Given the description of an element on the screen output the (x, y) to click on. 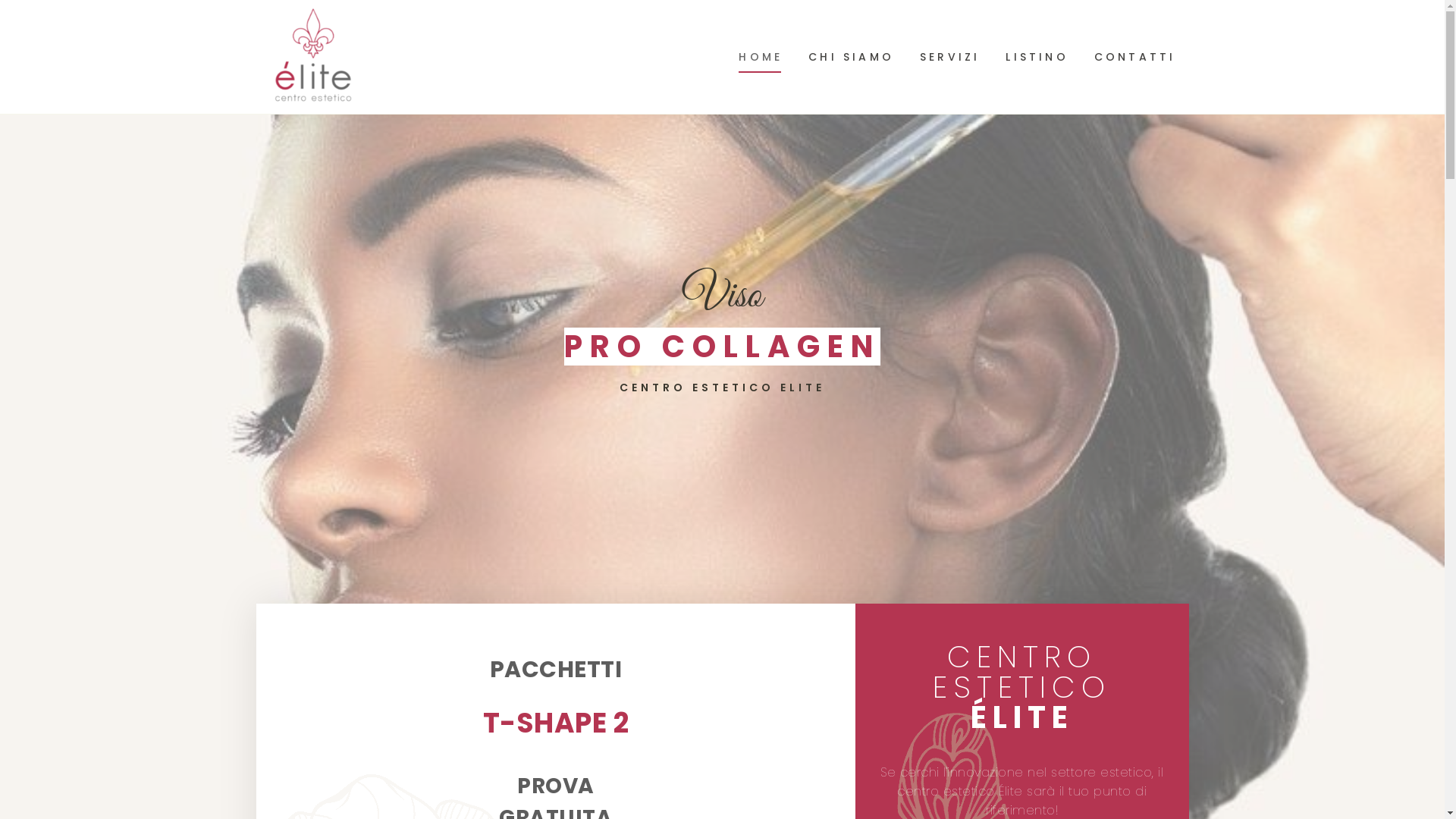
LISTINO Element type: text (1036, 56)
CHI SIAMO Element type: text (851, 56)
CONTATTI Element type: text (1134, 56)
SERVIZI Element type: text (949, 56)
HOME Element type: text (760, 56)
